Given the description of an element on the screen output the (x, y) to click on. 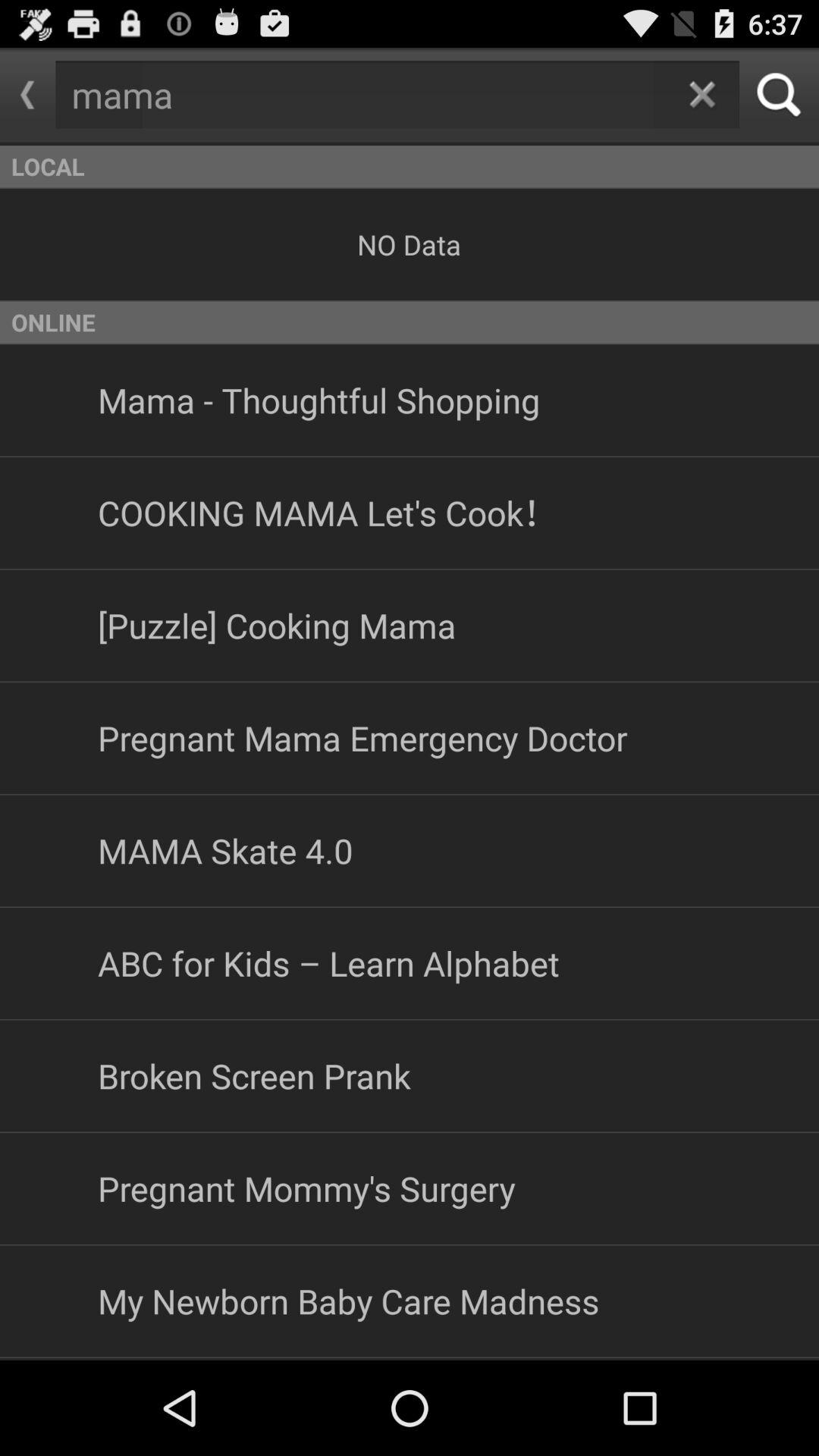
go back (27, 94)
